Given the description of an element on the screen output the (x, y) to click on. 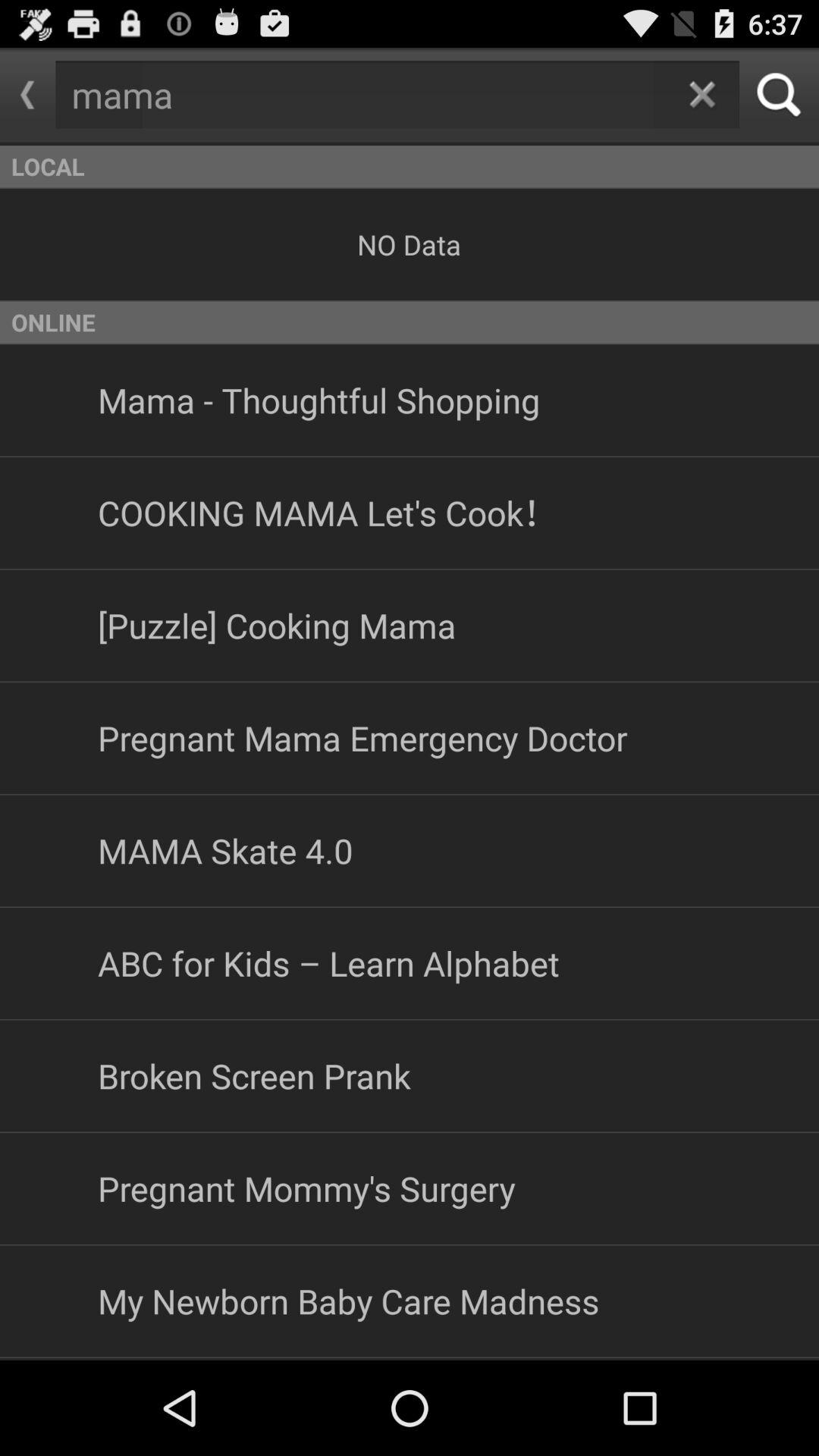
go back (27, 94)
